Given the description of an element on the screen output the (x, y) to click on. 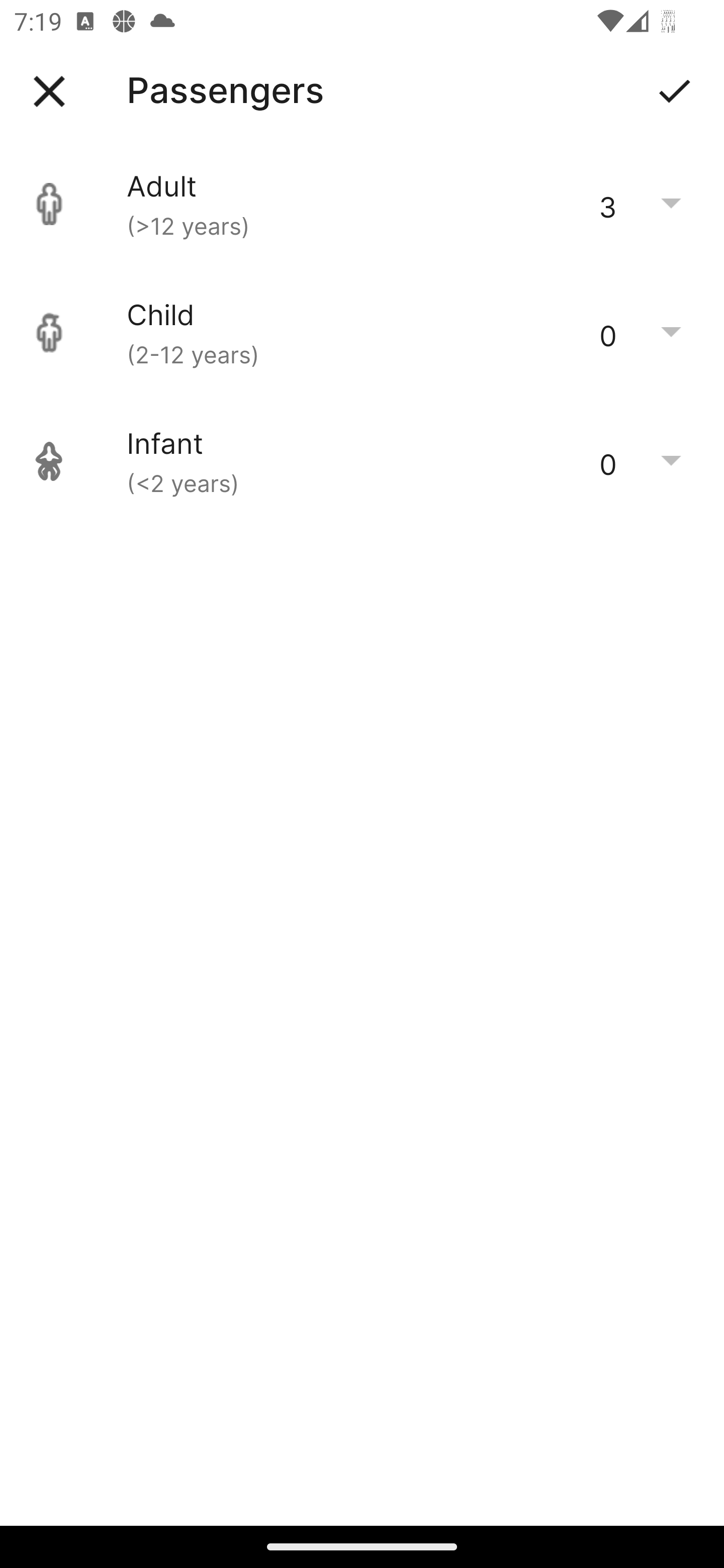
Adult (>12 years) 3 (362, 204)
Child (2-12 years) 0 (362, 332)
Infant (<2 years) 0 (362, 461)
